Given the description of an element on the screen output the (x, y) to click on. 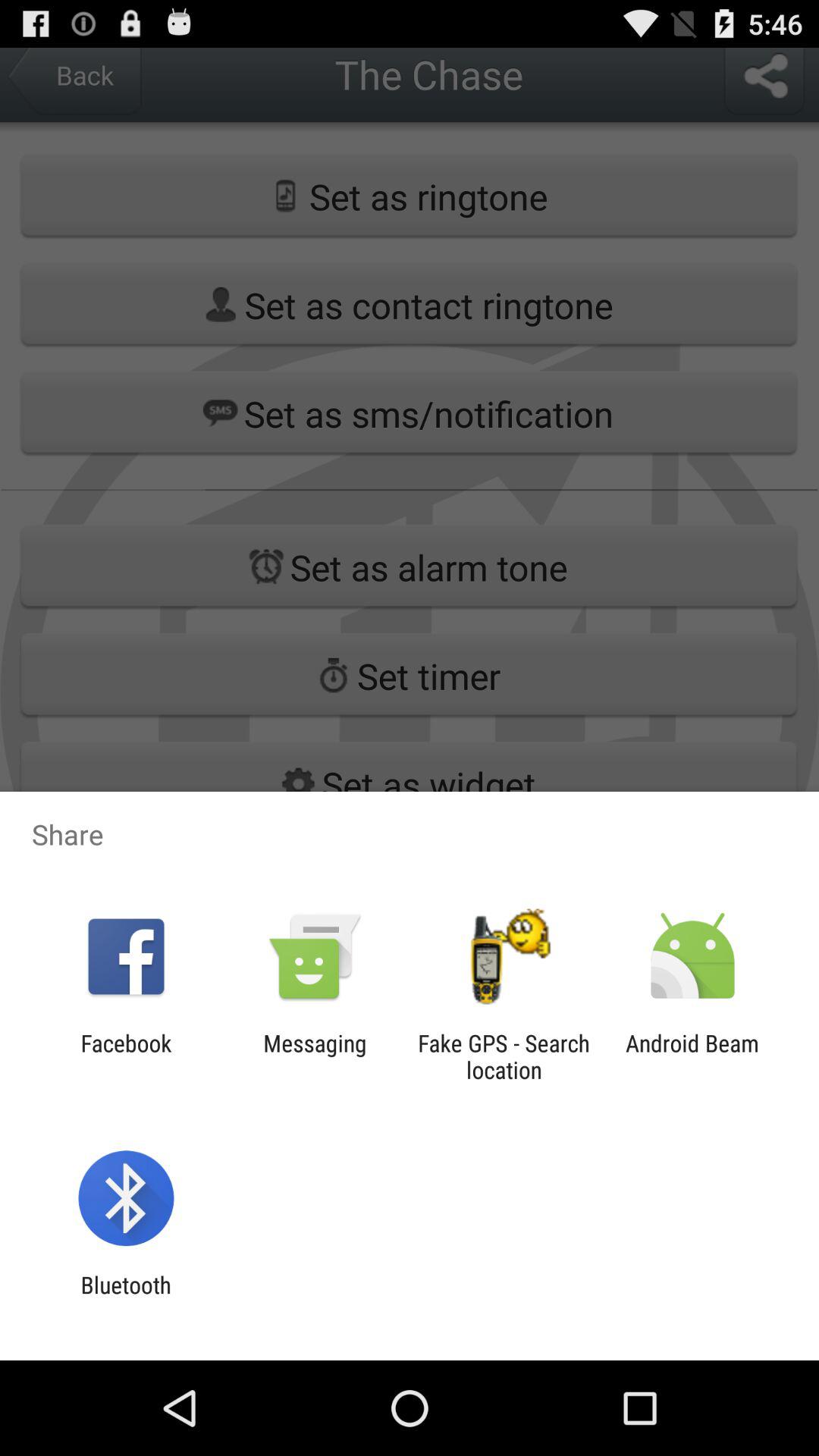
scroll until the android beam app (692, 1056)
